Given the description of an element on the screen output the (x, y) to click on. 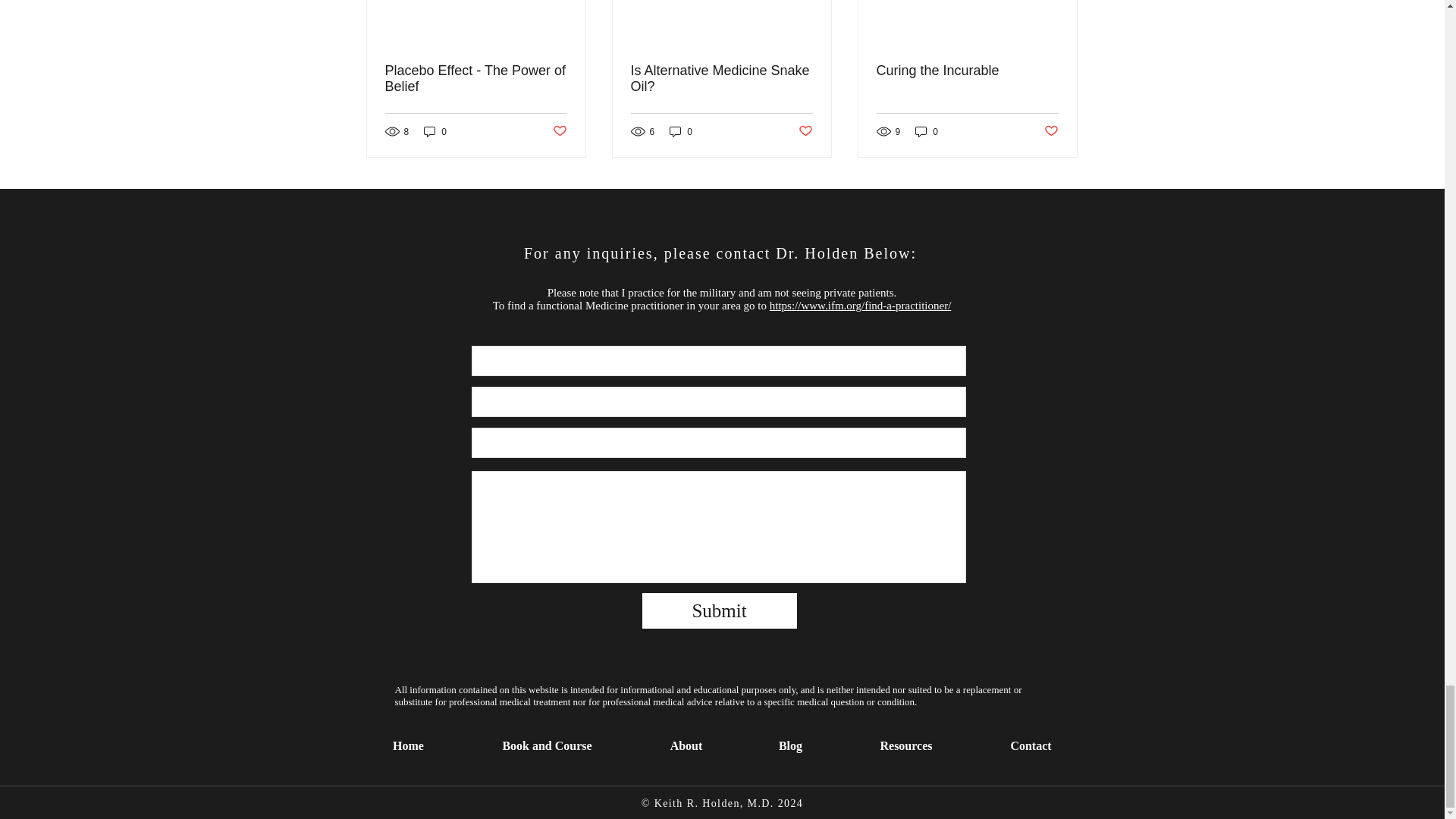
Post not marked as liked (804, 131)
Is Alternative Medicine Snake Oil? (721, 79)
Curing the Incurable (967, 70)
0 (435, 131)
0 (926, 131)
Post not marked as liked (1050, 131)
Placebo Effect - The Power of Belief (476, 79)
0 (681, 131)
Post not marked as liked (558, 131)
